Given the description of an element on the screen output the (x, y) to click on. 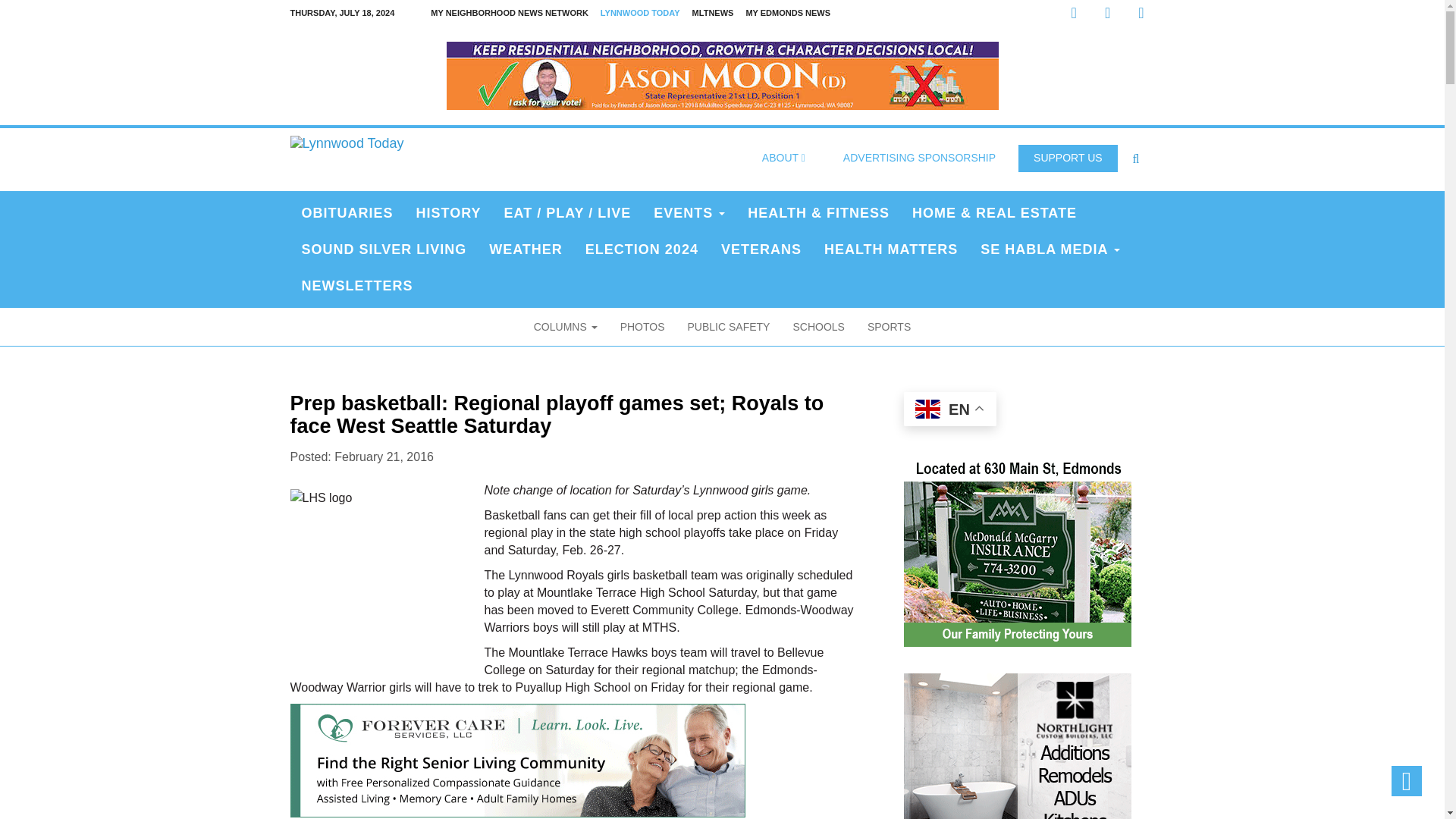
MLTNEWS (712, 13)
History (448, 212)
SE HABLA MEDIA (1050, 248)
HEALTH MATTERS (890, 248)
OBITUARIES (346, 212)
Veterans (761, 248)
HISTORY (448, 212)
LYNNWOOD TODAY (639, 13)
SUPPORT US (1067, 157)
WEATHER (525, 248)
Obituaries (346, 212)
ELECTION 2024 (641, 248)
Health Matters (890, 248)
Sound Silver Living (383, 248)
Events (689, 212)
